Given the description of an element on the screen output the (x, y) to click on. 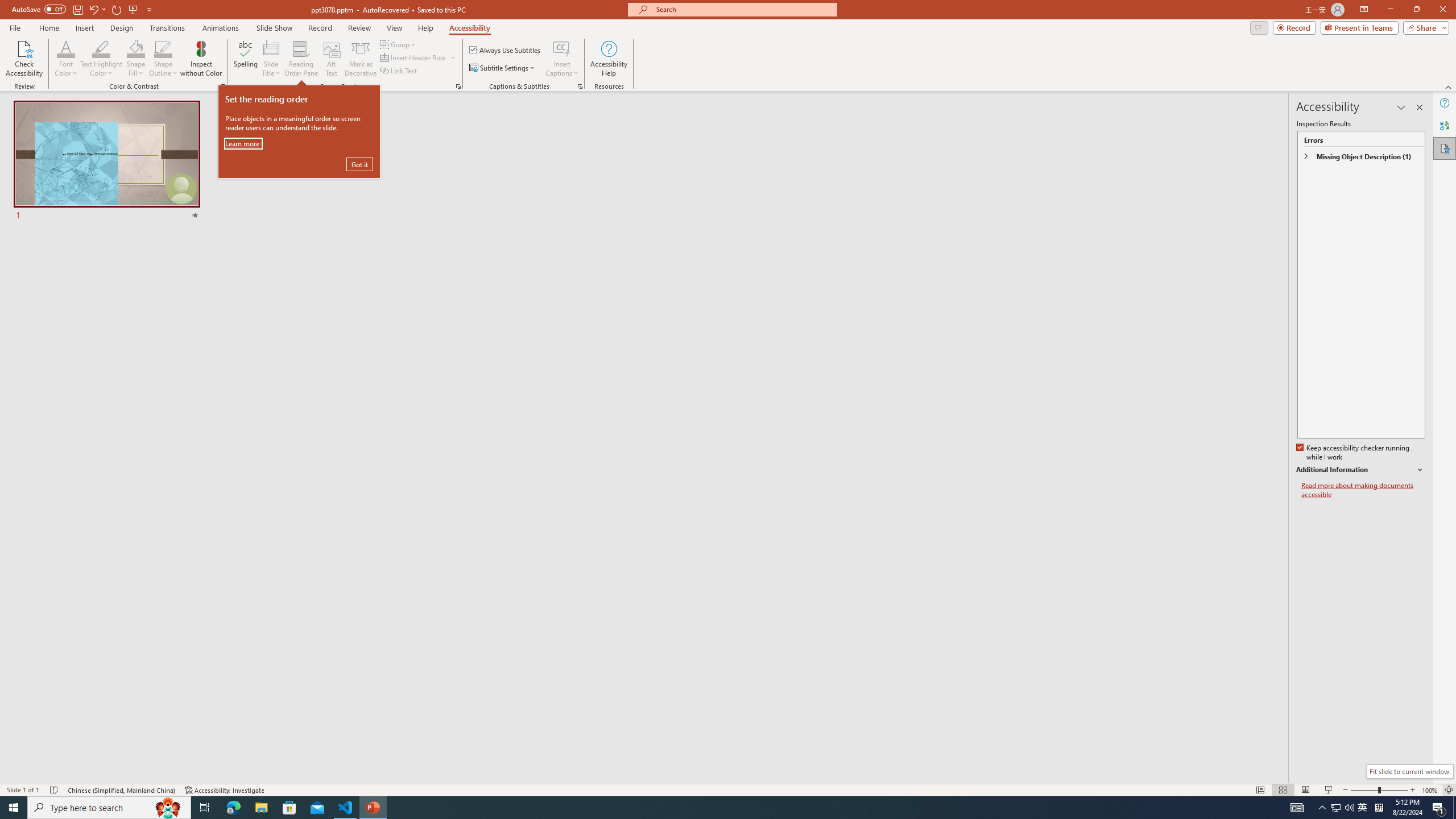
Shape Outline (163, 48)
Insert Captions (561, 58)
Reading Order Pane (301, 58)
Got it (359, 164)
Keep accessibility checker running while I work (1353, 452)
Shape Outline (163, 58)
